Given the description of an element on the screen output the (x, y) to click on. 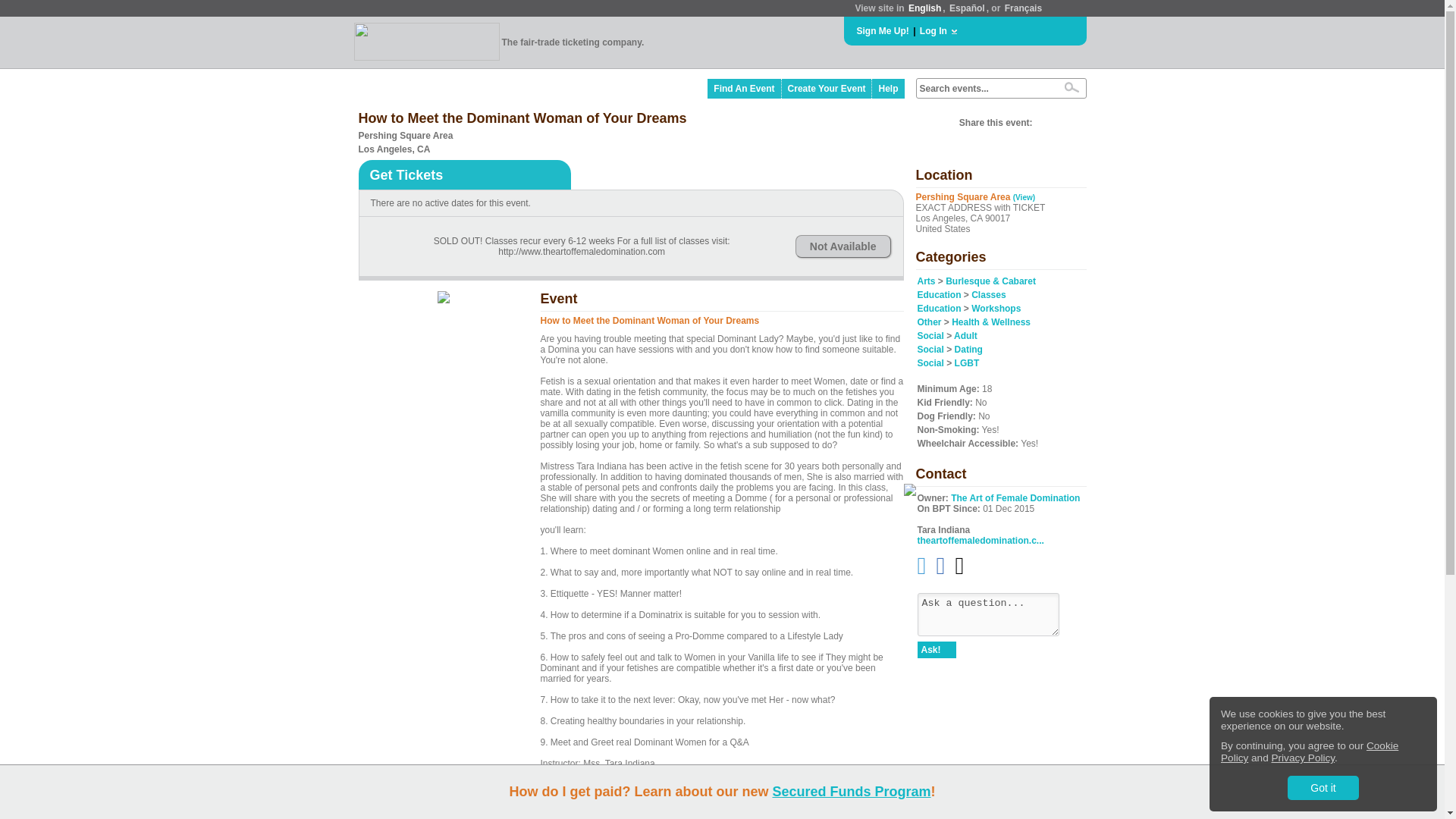
Search events... (984, 88)
Got it (1322, 787)
Secured Funds Program (850, 791)
The Art of Female Domination (1015, 498)
Submit to Twitter! (1048, 122)
Workshops (995, 308)
English (924, 8)
Adult (964, 335)
Cookie Policy (1309, 751)
Education (938, 294)
